Given the description of an element on the screen output the (x, y) to click on. 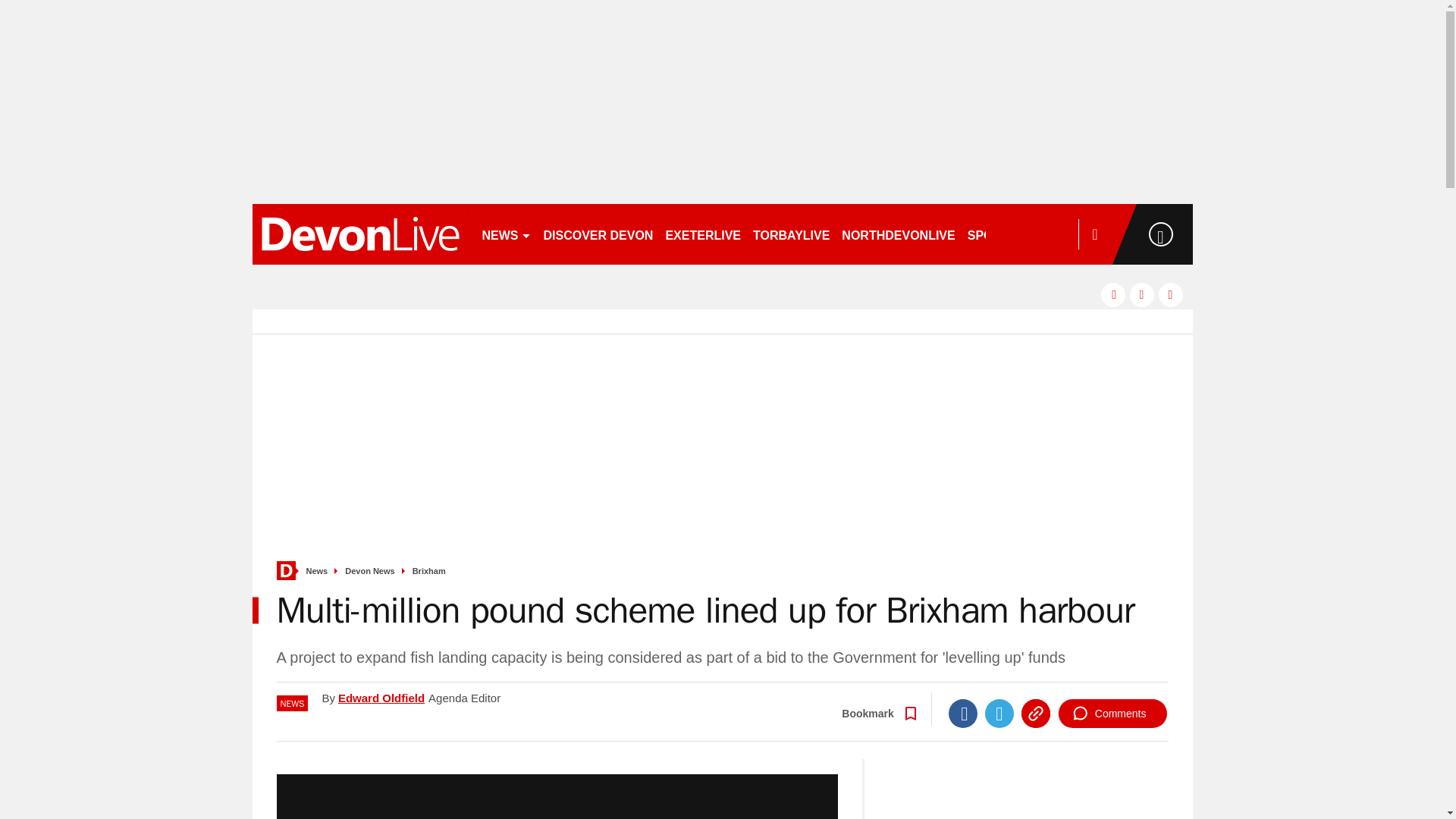
facebook (1112, 294)
NEWS (506, 233)
Twitter (999, 713)
instagram (1170, 294)
TORBAYLIVE (790, 233)
EXETERLIVE (702, 233)
Comments (1112, 713)
DISCOVER DEVON (598, 233)
Facebook (962, 713)
twitter (1141, 294)
